Given the description of an element on the screen output the (x, y) to click on. 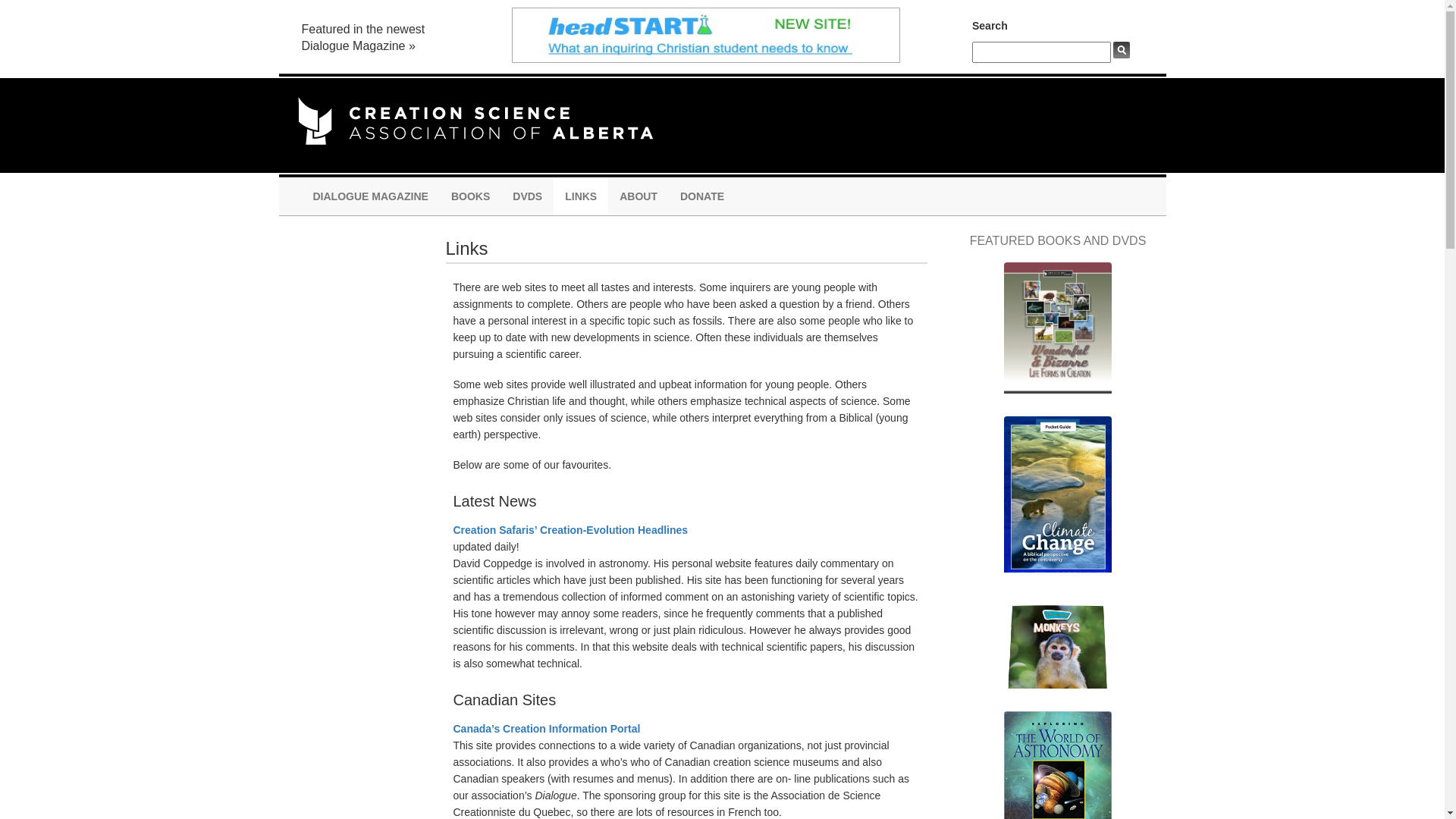
DVDS Element type: text (527, 196)
Wonderful and Bizarre Life Forms in Creation Element type: hover (1057, 335)
LINKS Element type: text (580, 196)
Pocket Guide to Climate Change Element type: hover (1057, 501)
BOOKS Element type: text (470, 196)
Go Home Element type: hover (474, 119)
ABOUT Element type: text (638, 196)
DIALOGUE MAGAZINE Element type: text (370, 196)
DONATE Element type: text (701, 196)
God Created Monkeys Element type: hover (1057, 649)
